Given the description of an element on the screen output the (x, y) to click on. 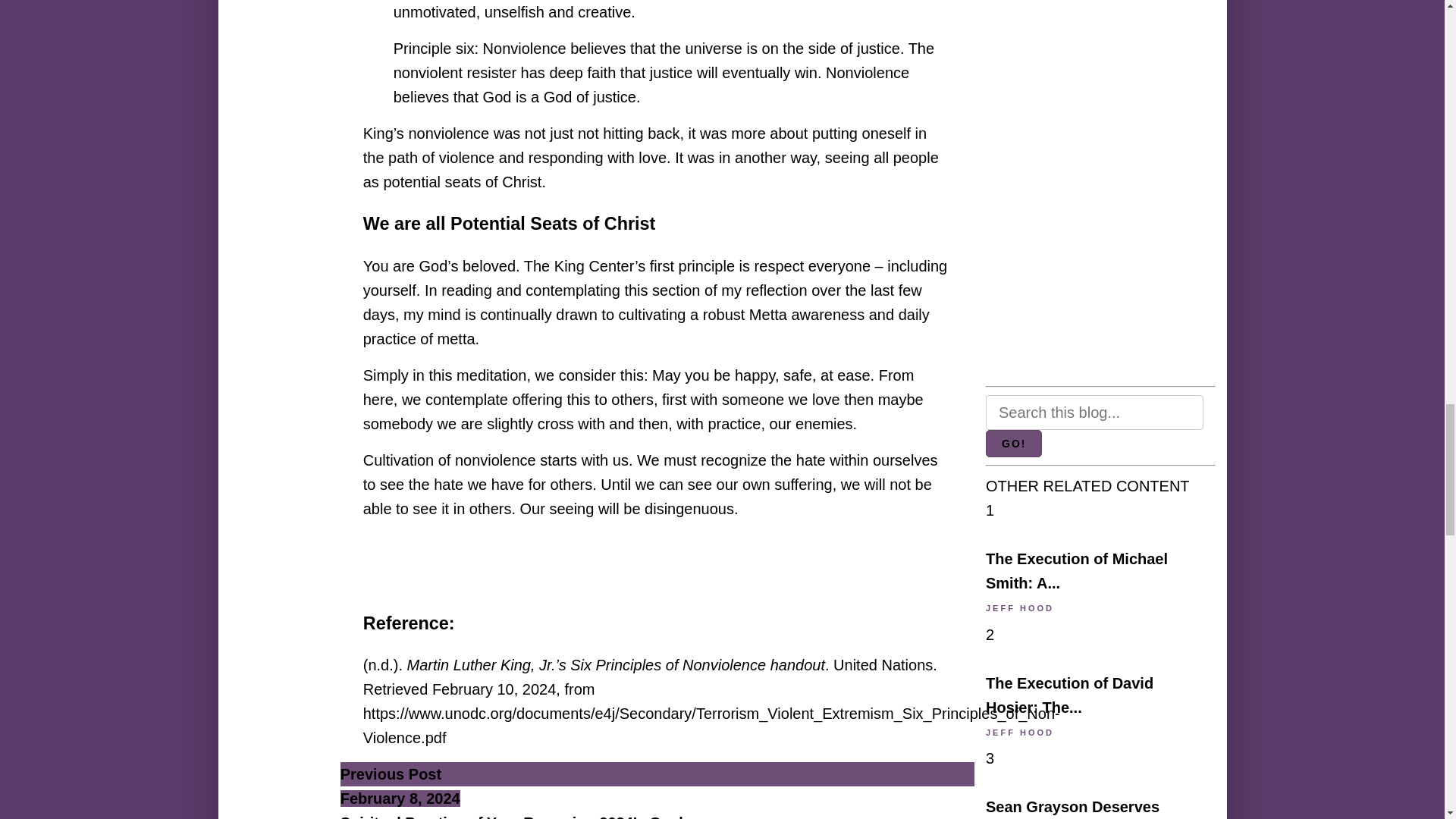
Go! (1013, 443)
